Given the description of an element on the screen output the (x, y) to click on. 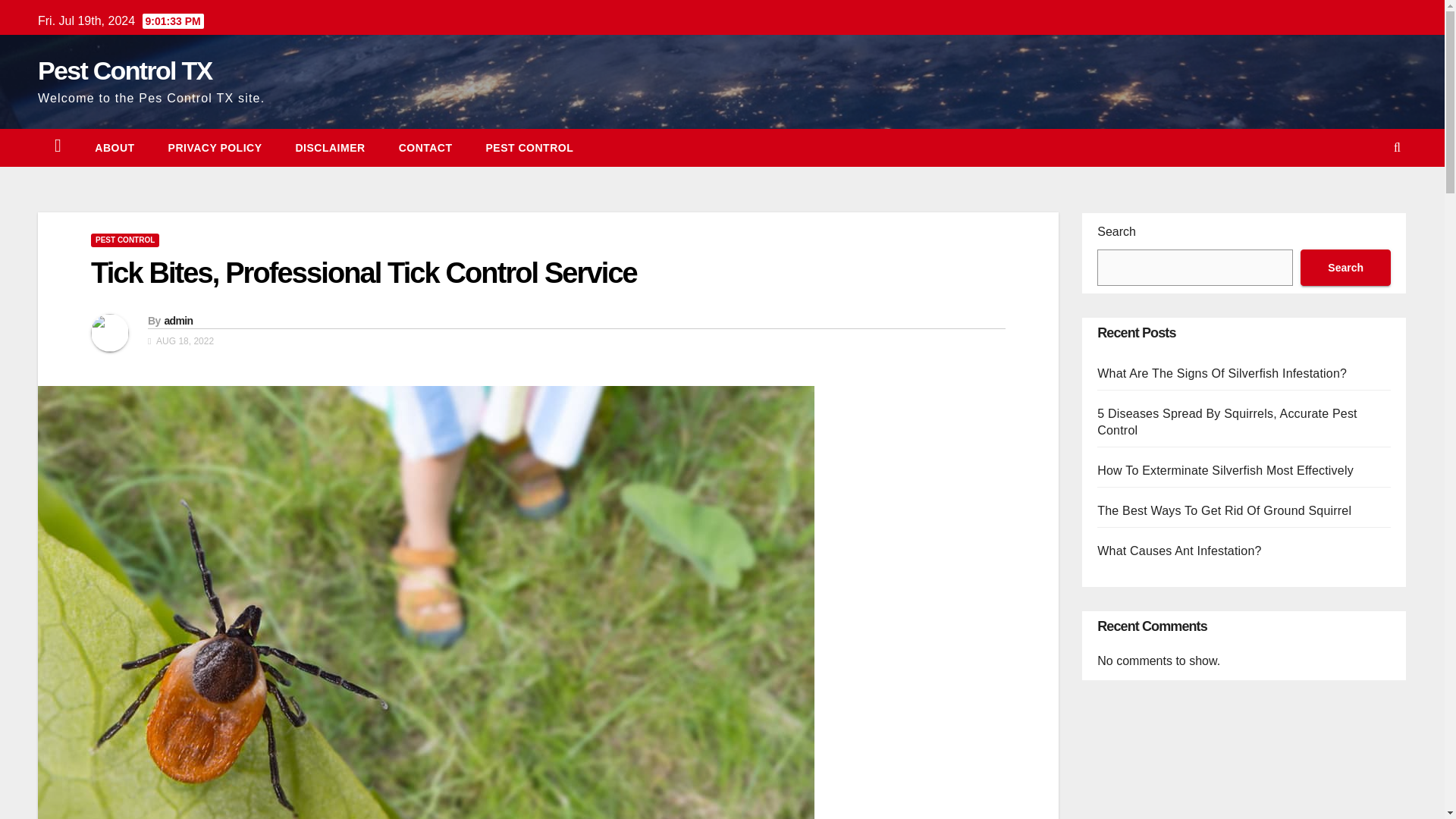
Pest control (529, 147)
Tick Bites, Professional Tick Control Service (363, 273)
Search (1345, 267)
Disclaimer (330, 147)
Privacy Policy (215, 147)
admin (177, 320)
PEST CONTROL (124, 240)
About (114, 147)
ABOUT (114, 147)
DISCLAIMER (330, 147)
PEST CONTROL (529, 147)
PRIVACY POLICY (215, 147)
Contact (424, 147)
Pest Control TX (124, 70)
Permalink to: Tick Bites, Professional Tick Control Service (363, 273)
